Given the description of an element on the screen output the (x, y) to click on. 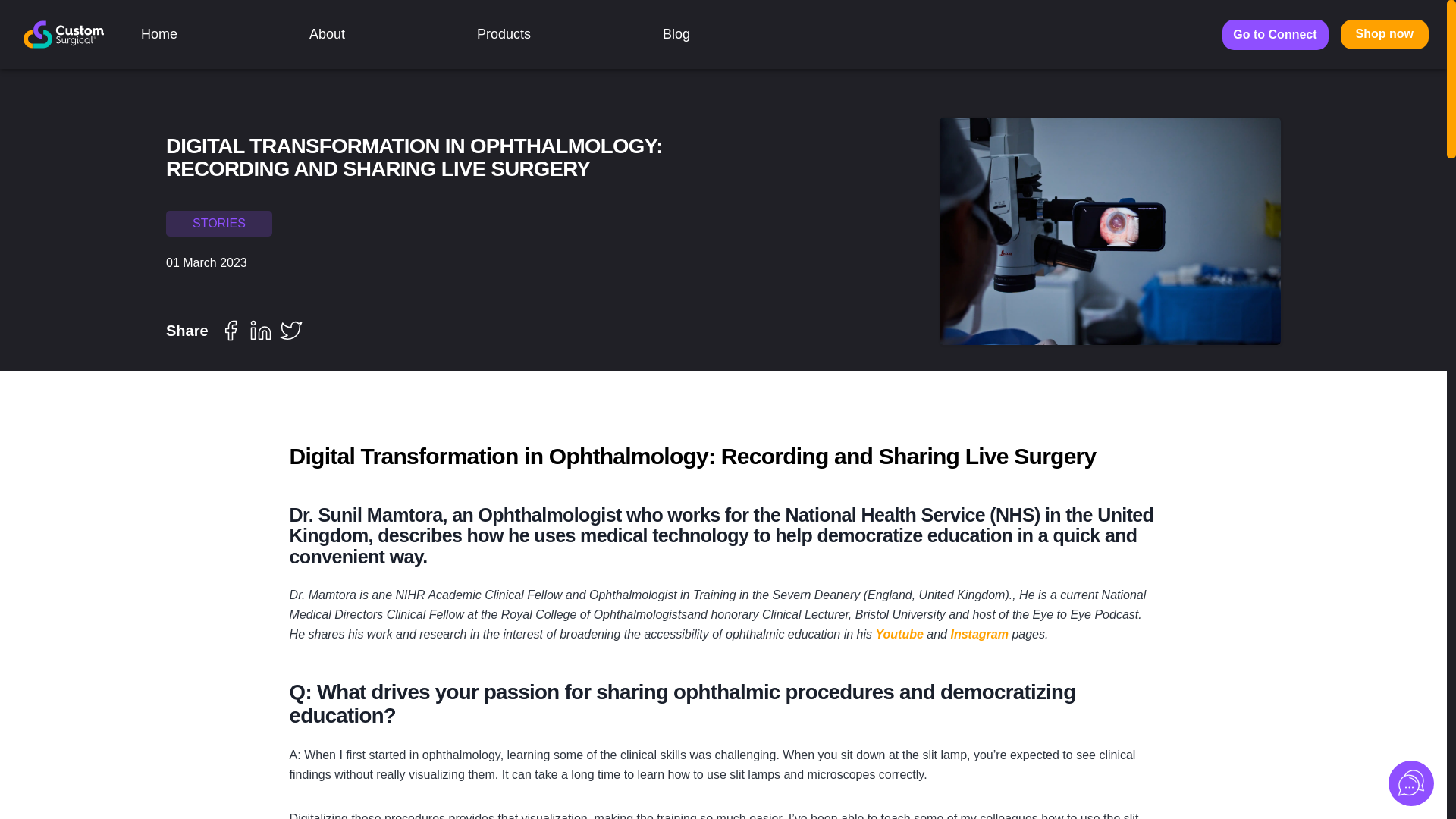
Products (503, 34)
About (326, 33)
Go to Connect (1275, 34)
Instagram (980, 634)
Home (159, 33)
Shop now (1384, 33)
Youtube (899, 634)
Shop now (1384, 33)
Blog (676, 33)
